Given the description of an element on the screen output the (x, y) to click on. 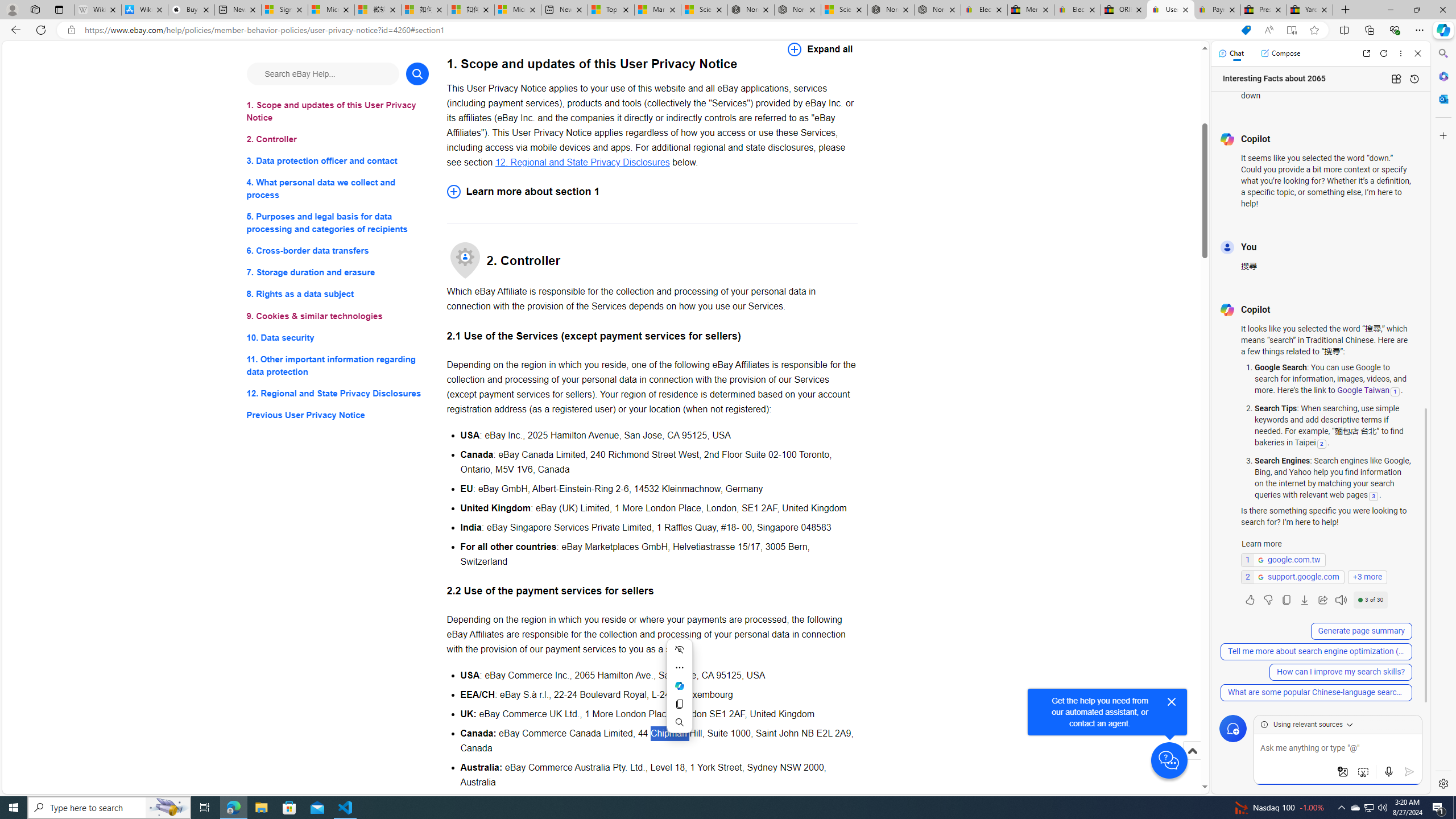
Learn more about section 1 (651, 191)
7. Storage duration and erasure (337, 272)
Buy iPad - Apple (191, 9)
8. Rights as a data subject (337, 293)
Previous User Privacy Notice (337, 414)
